Given the description of an element on the screen output the (x, y) to click on. 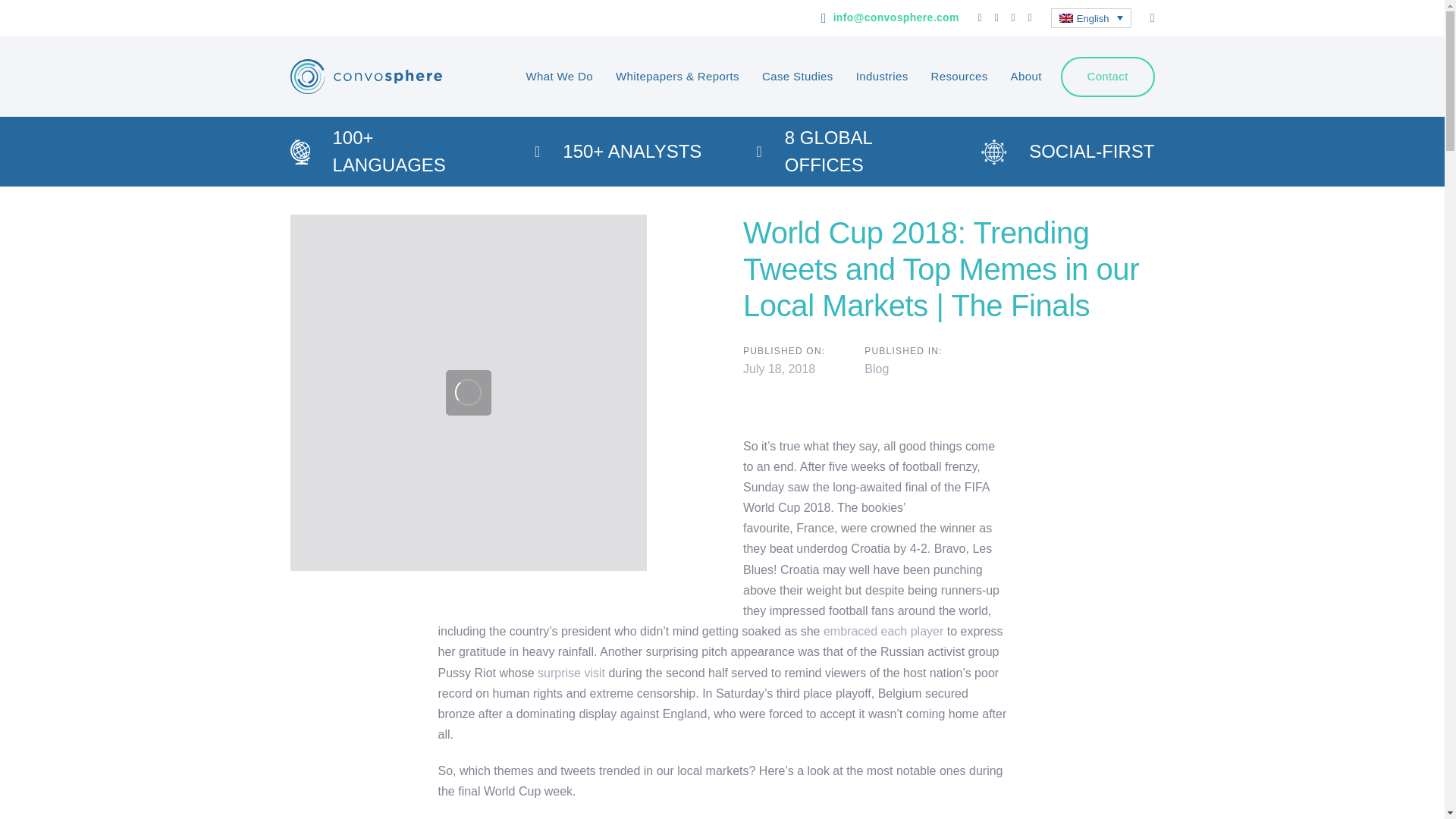
What We Do (560, 76)
Case Studies (797, 76)
Industries (882, 76)
Resources (959, 76)
English (1091, 17)
